Given the description of an element on the screen output the (x, y) to click on. 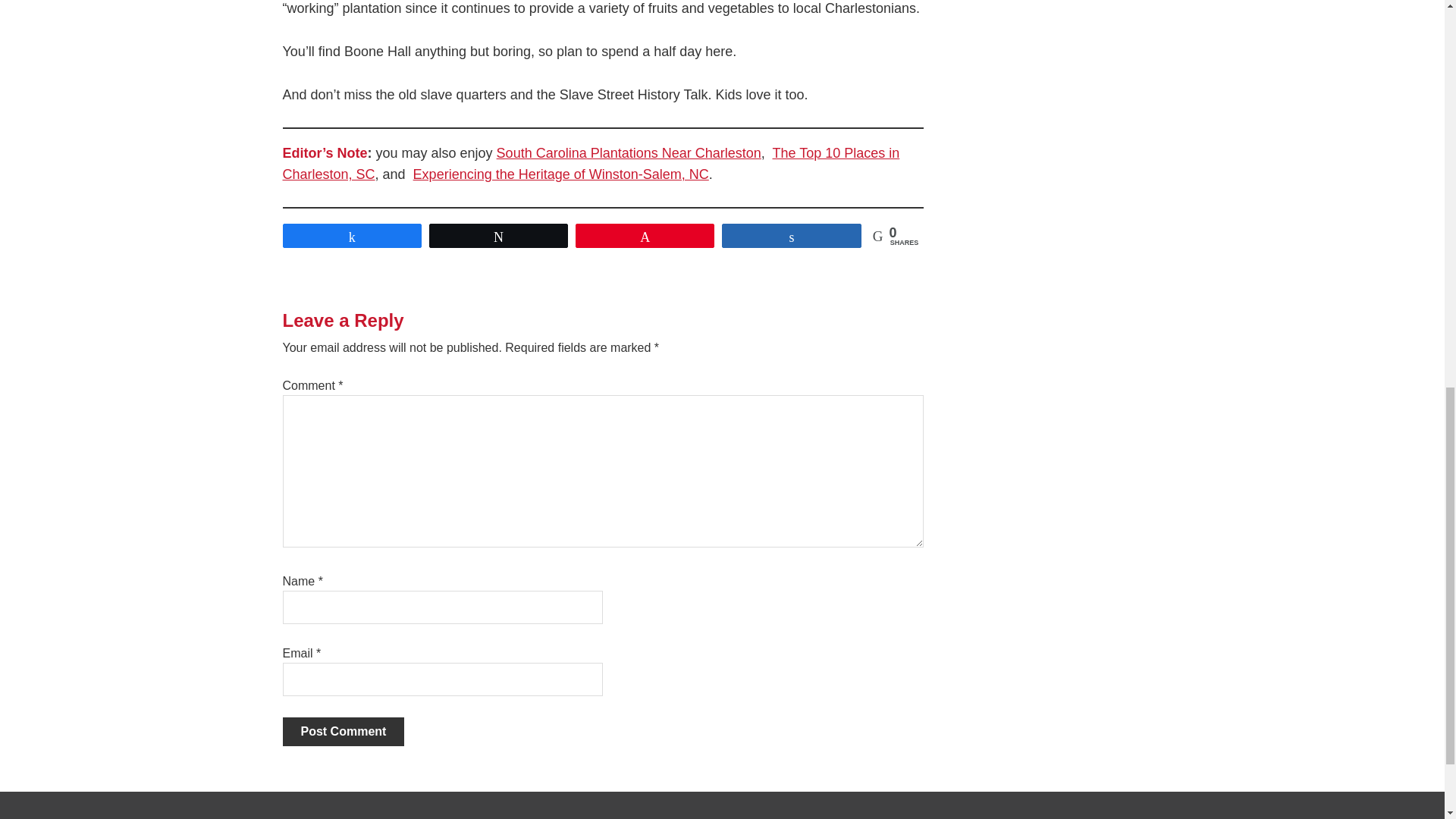
Post Comment (343, 731)
Post Comment (343, 731)
South Carolina Plantations Near Charleston (628, 152)
The Top 10 Places in Charleston, SC (590, 163)
Experiencing the Heritage of Winston-Salem, NC (561, 174)
